Given the description of an element on the screen output the (x, y) to click on. 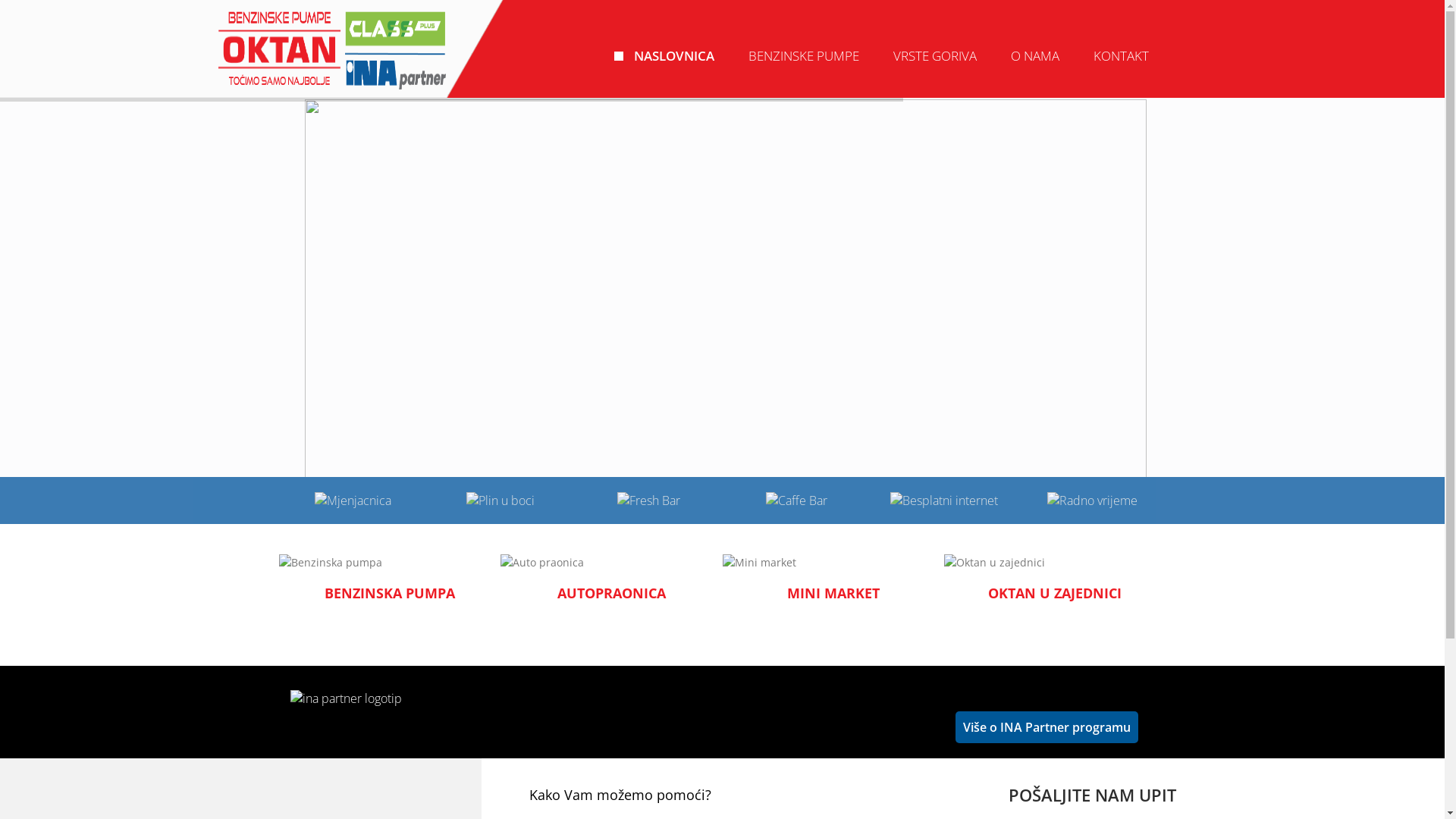
Fresh Bar Element type: hover (648, 500)
AUTOPRAONICA Element type: text (611, 592)
O NAMA Element type: text (1033, 55)
Mini market Element type: hover (832, 562)
Plin Element type: hover (500, 500)
BENZINSKE PUMPE Element type: text (802, 55)
WiFi Element type: hover (943, 500)
INA Partner Element type: hover (345, 698)
Caffe Bar Element type: hover (796, 500)
NASLOVNICA Element type: text (671, 55)
Oktan u zajednici Element type: hover (1055, 562)
OKTAN Element type: hover (331, 49)
KONTAKT Element type: text (1119, 55)
Auto praonica Element type: hover (611, 562)
Benzinska pumpa Element type: hover (390, 562)
VRSTE GORIVA Element type: text (933, 55)
Radno vrijeme Element type: hover (1091, 500)
OKTAN Element type: hover (362, 47)
